Given the description of an element on the screen output the (x, y) to click on. 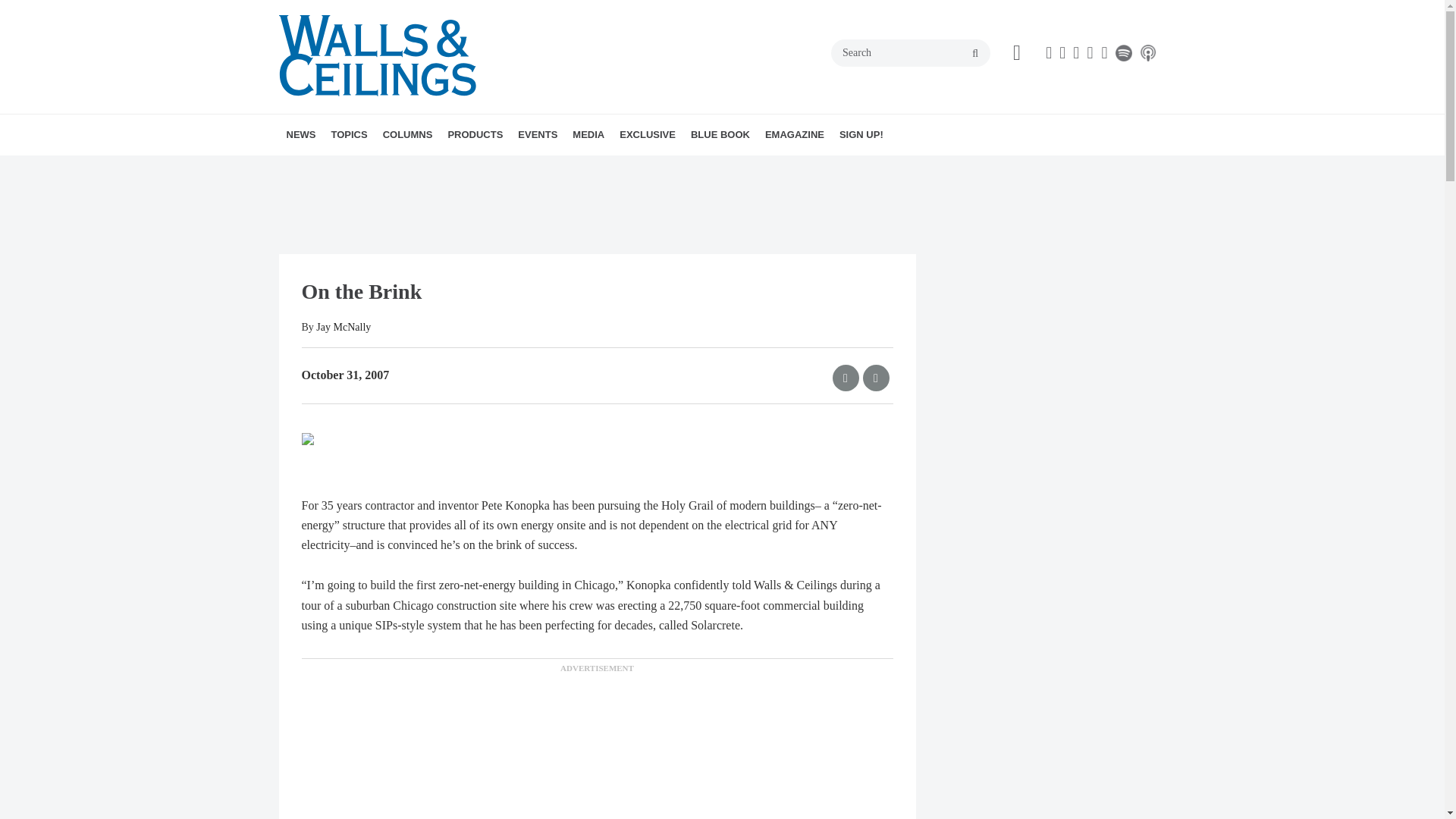
search (975, 53)
NEWS (301, 134)
COLUMNS (408, 134)
TOPICS (348, 134)
WOMEN IN CONSTRUCTION (464, 167)
PLASTER (445, 167)
Search (910, 52)
INDUSTRY VOICES (483, 167)
METAL FRAMING (436, 167)
DRYWALL (417, 167)
FIREPROOFING (442, 167)
TOOLS AND SOFTWARE (457, 167)
UP FRONT (493, 167)
INTERIOR (459, 167)
ALL THINGS GYPSUM (469, 167)
